Given the description of an element on the screen output the (x, y) to click on. 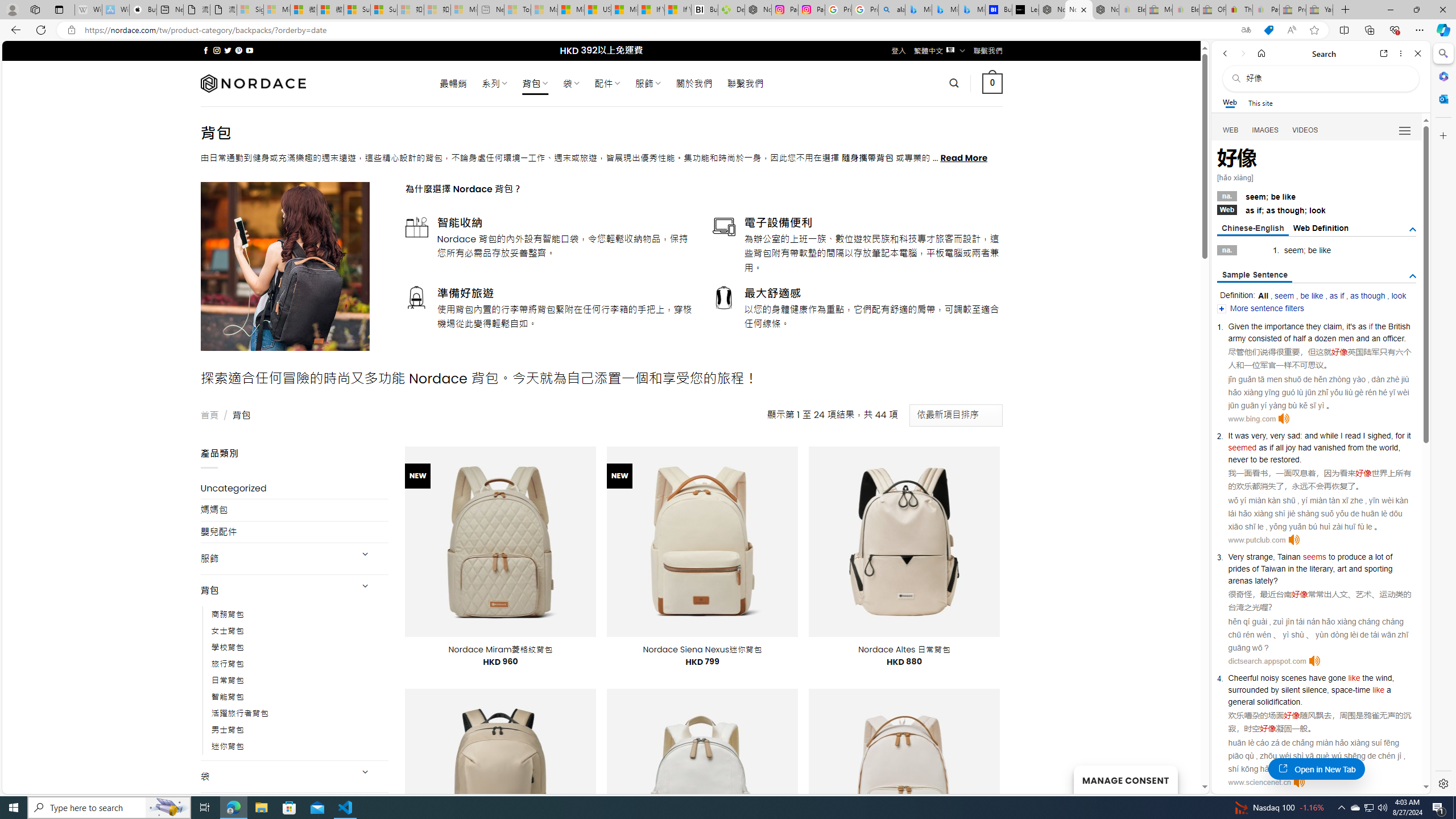
Class: b_serphb (1404, 130)
officer (1393, 338)
strange (1260, 556)
produce (1351, 556)
be (1312, 249)
This site scope (1259, 102)
